Given the description of an element on the screen output the (x, y) to click on. 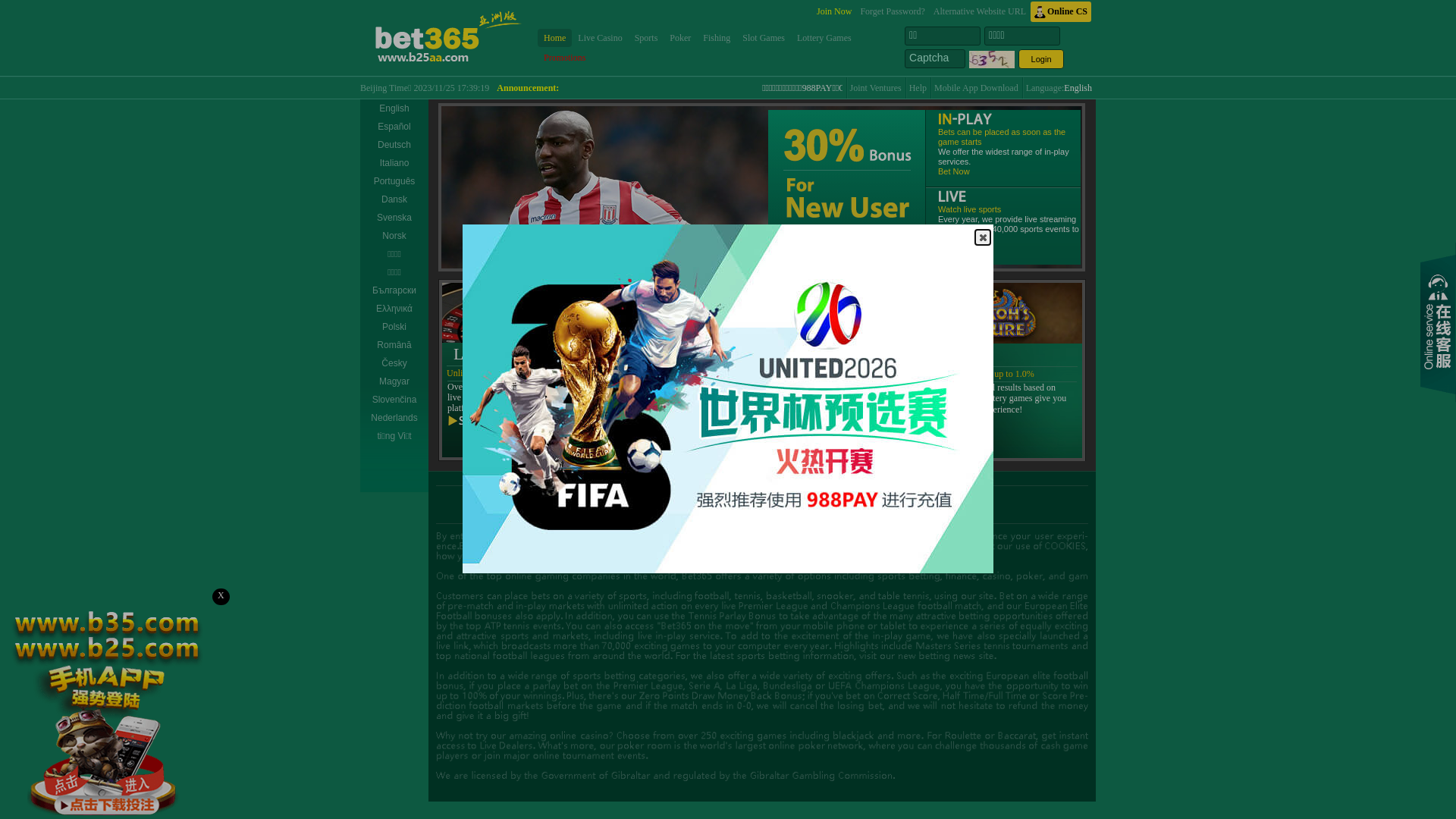
Nederlands Element type: text (394, 417)
Live Casino Element type: text (599, 37)
Poker Element type: text (679, 37)
Join Now Element type: text (833, 11)
Close Element type: hover (982, 236)
Agent Program Element type: text (838, 497)
Lottery Games Element type: text (823, 37)
Agent Alliance Element type: text (907, 497)
English Element type: text (1077, 87)
Online CS Element type: text (1060, 11)
Instructions Element type: text (659, 497)
About Us Element type: text (606, 497)
Slot Games Element type: text (763, 37)
Norsk Element type: text (394, 235)
Mobile App Download Element type: text (976, 87)
Sports Element type: text (646, 37)
FAQs Element type: text (705, 497)
Fishing Element type: text (716, 37)
English Element type: text (394, 108)
Joint Ventures Element type: text (875, 87)
Dansk Element type: text (394, 199)
Help Element type: text (917, 87)
Forget Password? Element type: text (891, 11)
Login Element type: text (1040, 59)
Agent Partnership Element type: text (763, 497)
Svenska Element type: text (394, 217)
Magyar Element type: text (394, 381)
Promotions Element type: text (564, 57)
Home Element type: text (554, 37)
Italiano Element type: text (394, 162)
Polski Element type: text (394, 326)
Alternative Website URL Element type: text (979, 11)
Deutsch Element type: text (394, 144)
